Given the description of an element on the screen output the (x, y) to click on. 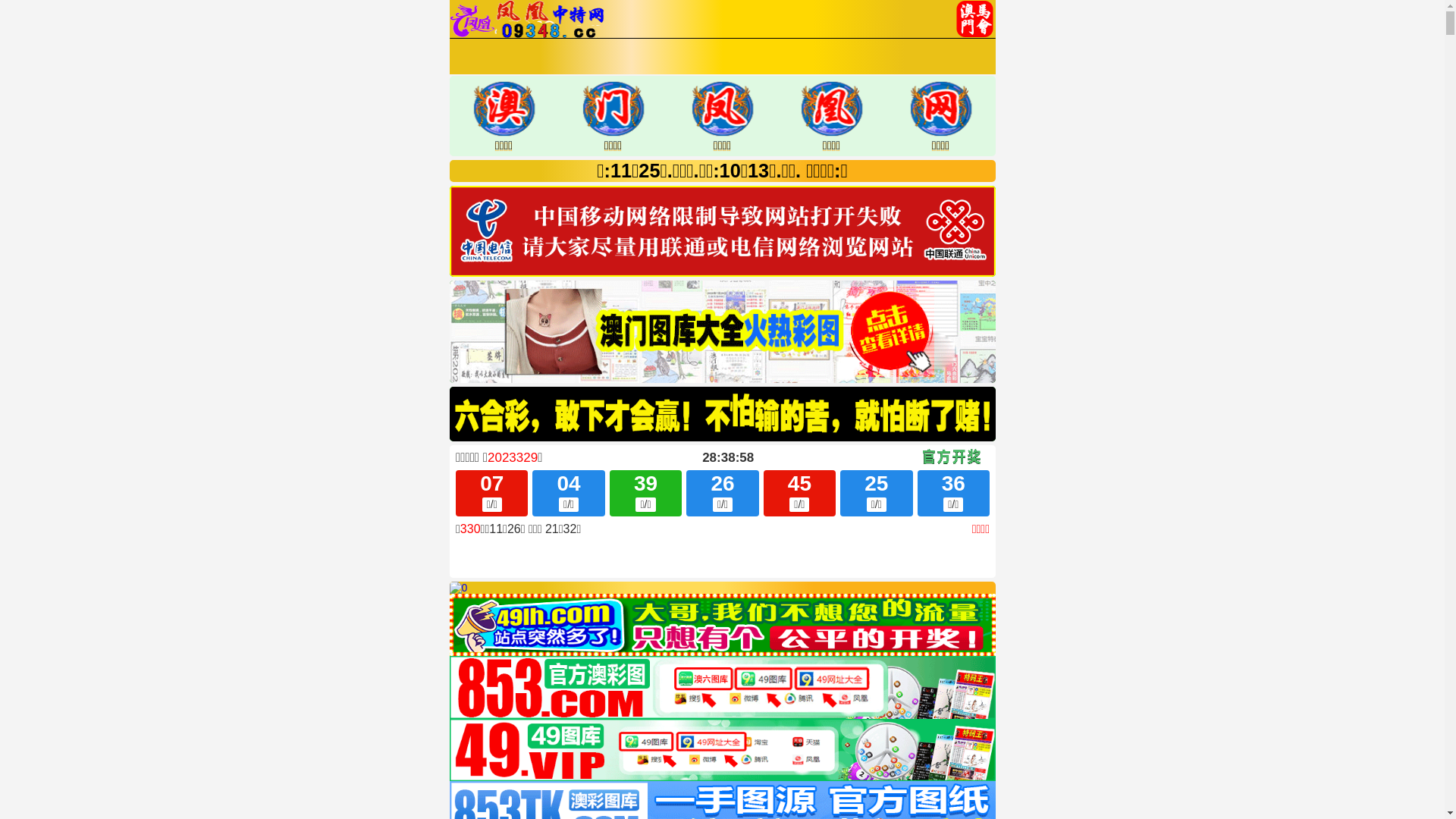
0 Element type: hover (721, 624)
0 Element type: hover (721, 749)
0 Element type: hover (721, 686)
0 Element type: hover (457, 587)
